Given the description of an element on the screen output the (x, y) to click on. 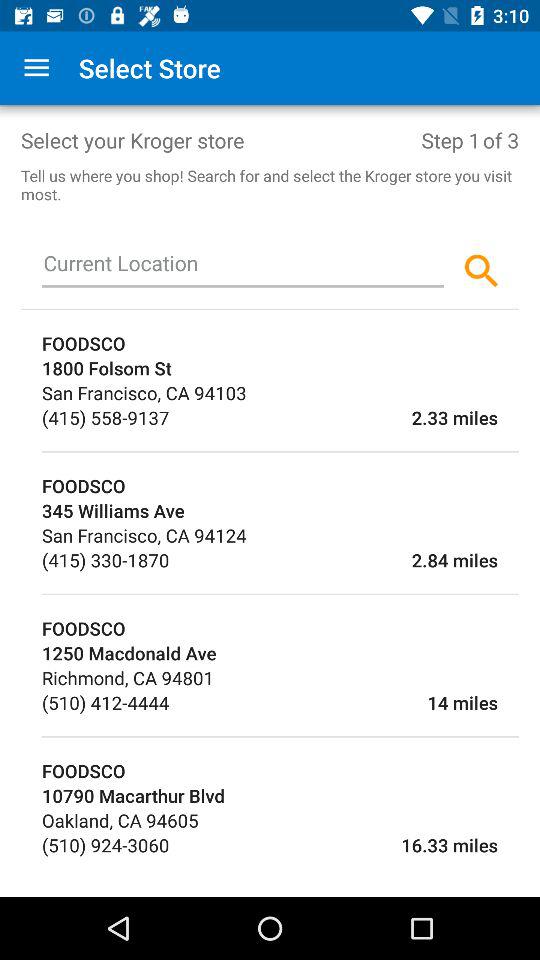
select the item above oakland, ca 94605 item (280, 795)
